Given the description of an element on the screen output the (x, y) to click on. 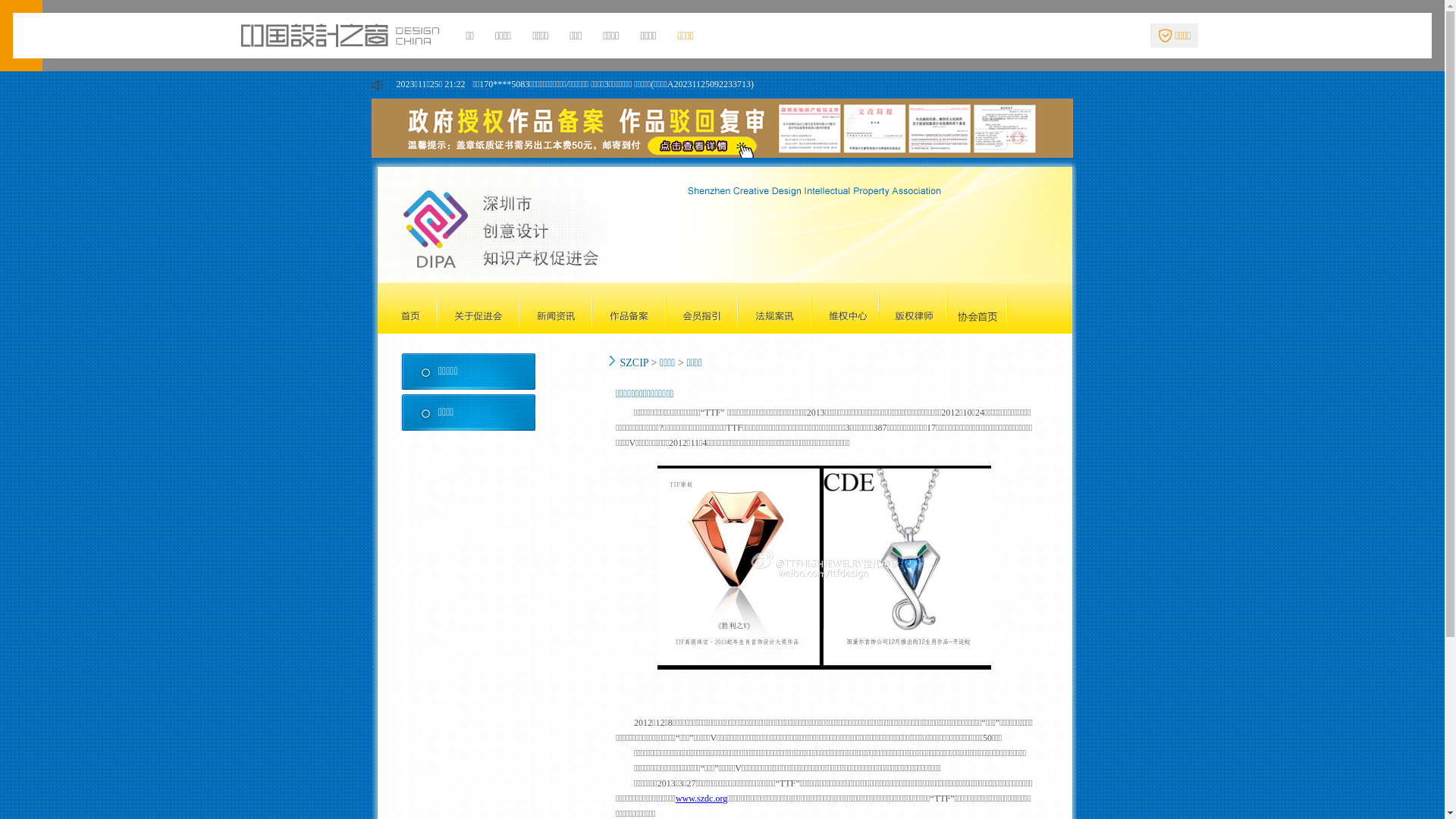
SZCIP Element type: text (635, 362)
www.szdc.org Element type: text (701, 798)
